Given the description of an element on the screen output the (x, y) to click on. 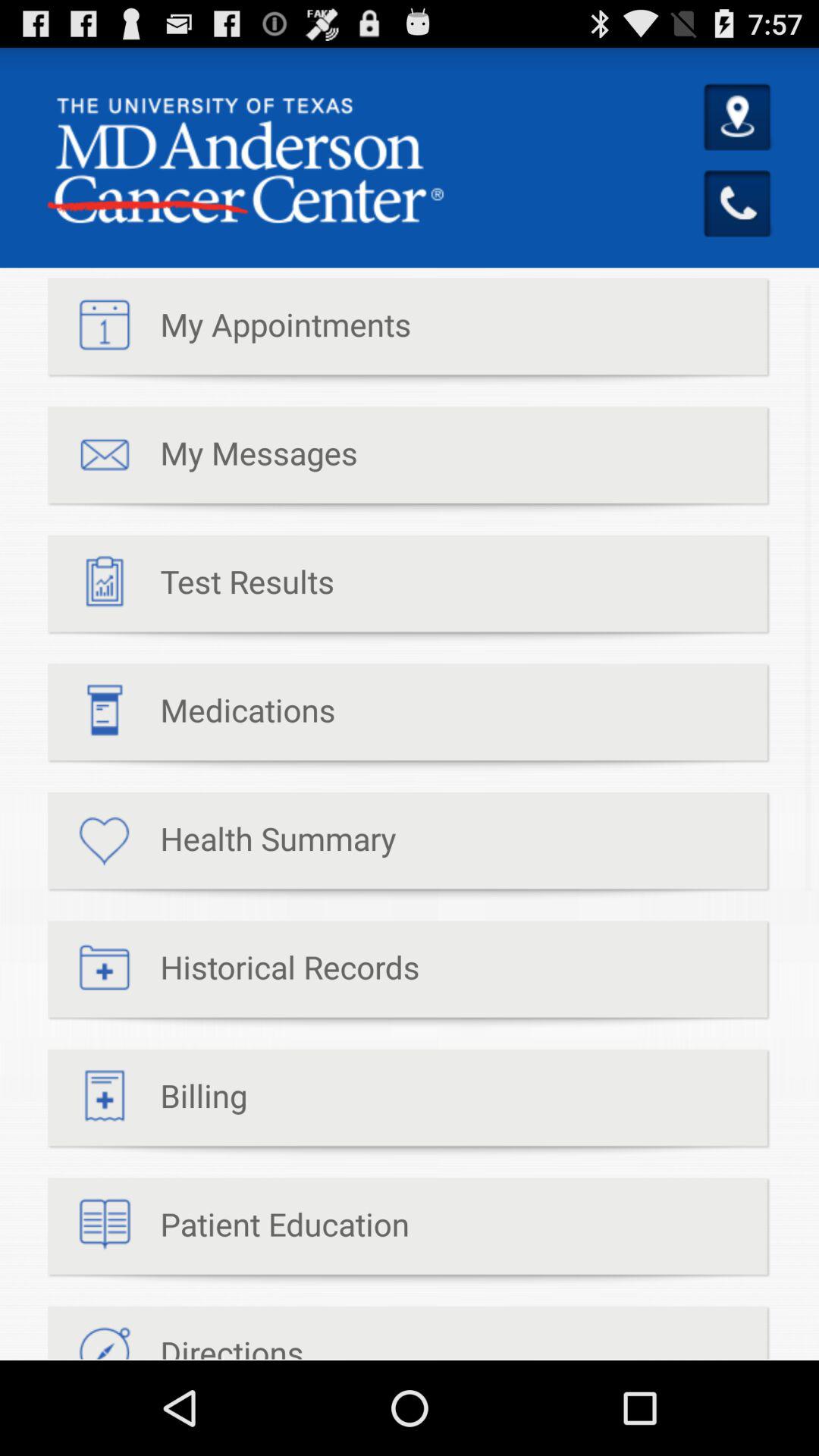
turn on the item above test results icon (202, 460)
